Given the description of an element on the screen output the (x, y) to click on. 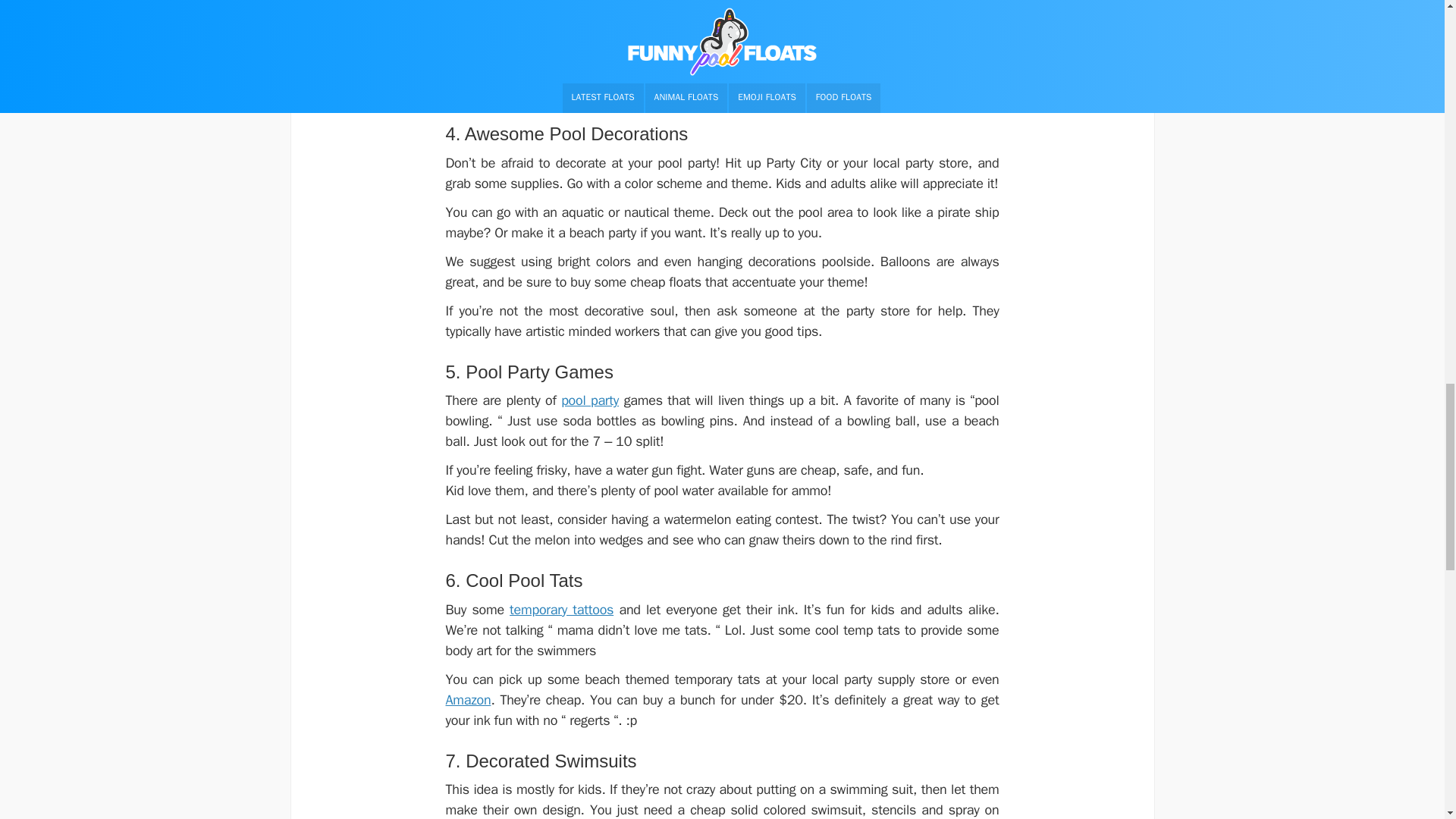
Amazon (468, 699)
pool party (589, 400)
temporary tattoos (560, 609)
